Given the description of an element on the screen output the (x, y) to click on. 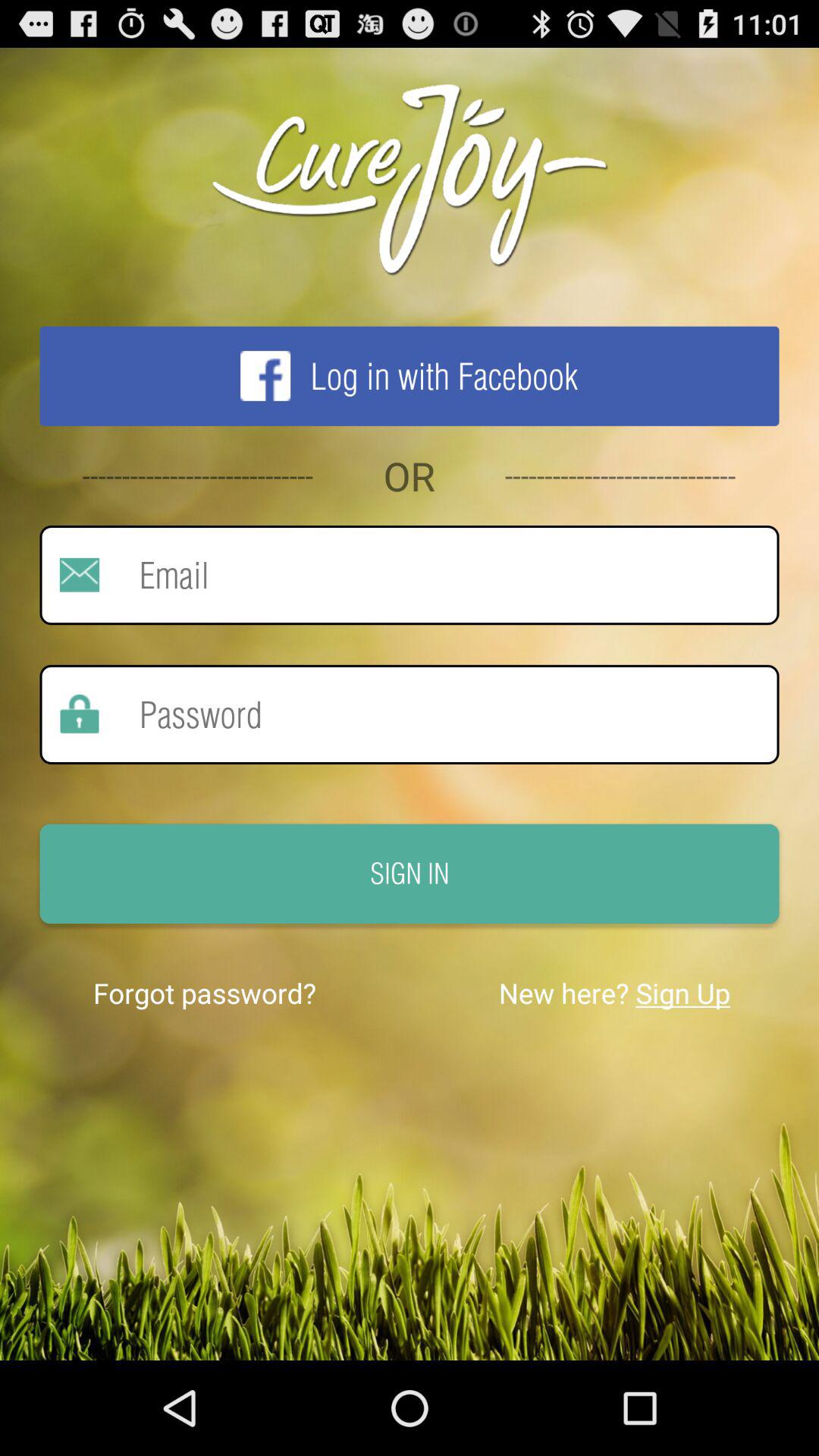
input email address (439, 575)
